Given the description of an element on the screen output the (x, y) to click on. 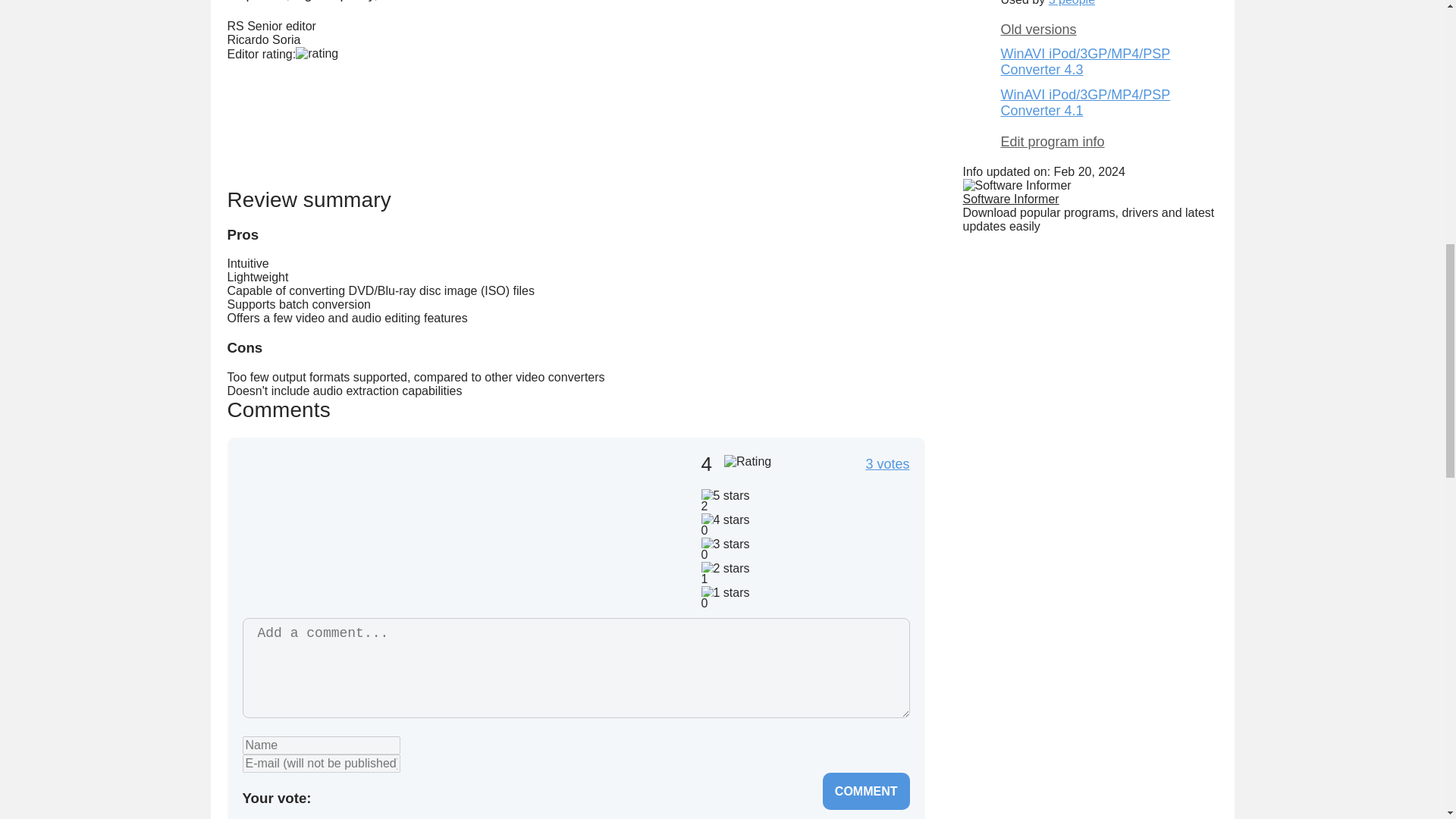
5 people (1071, 2)
Old versions (1109, 29)
Software Informer (1010, 198)
2 (347, 796)
Comment (866, 791)
3 (371, 796)
1 (323, 796)
4 (396, 796)
5 (420, 796)
